Given the description of an element on the screen output the (x, y) to click on. 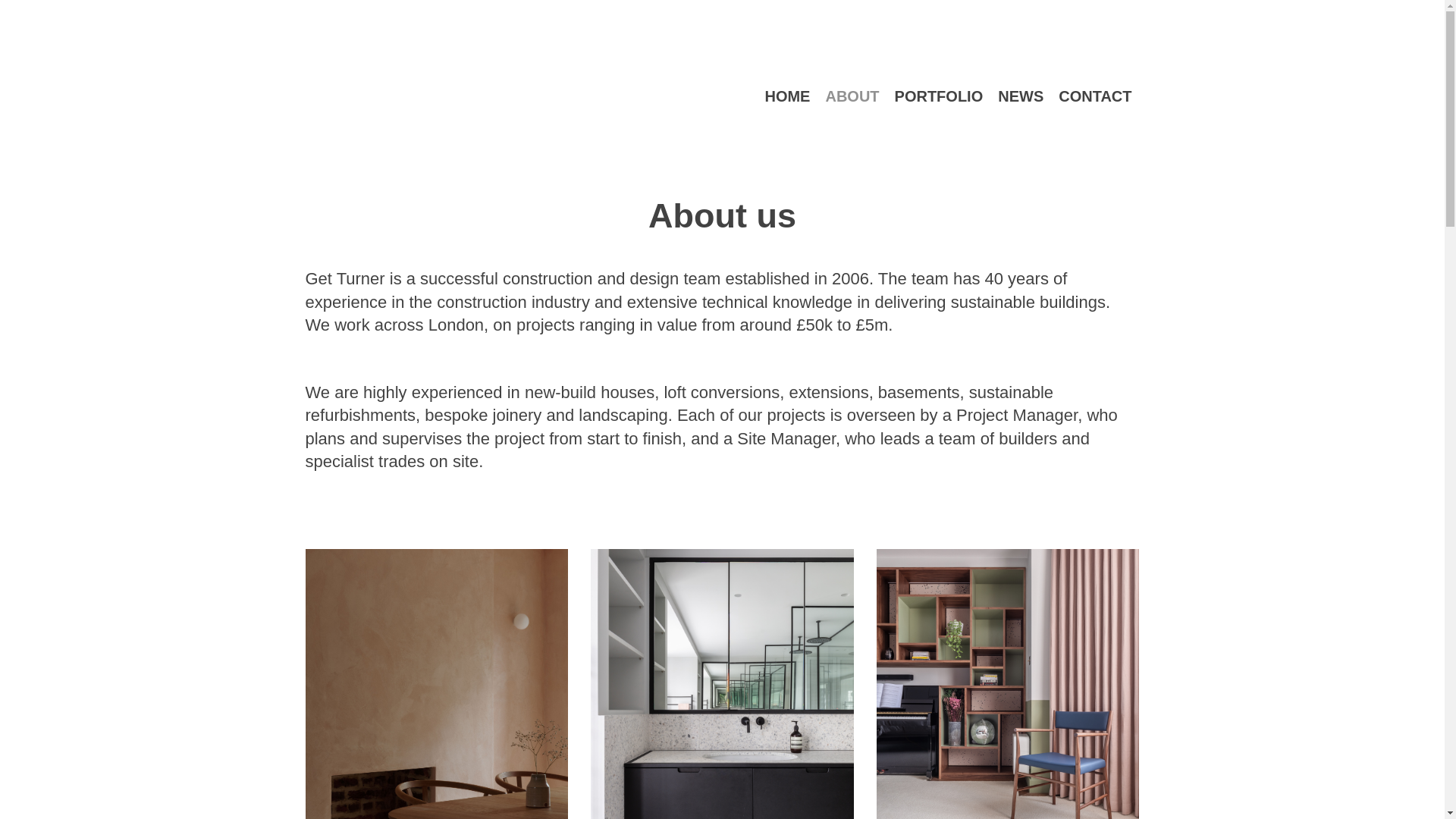
Georgian house dining room interior (435, 683)
construction and design team (611, 278)
construction (481, 302)
new-build houses (588, 392)
